Given the description of an element on the screen output the (x, y) to click on. 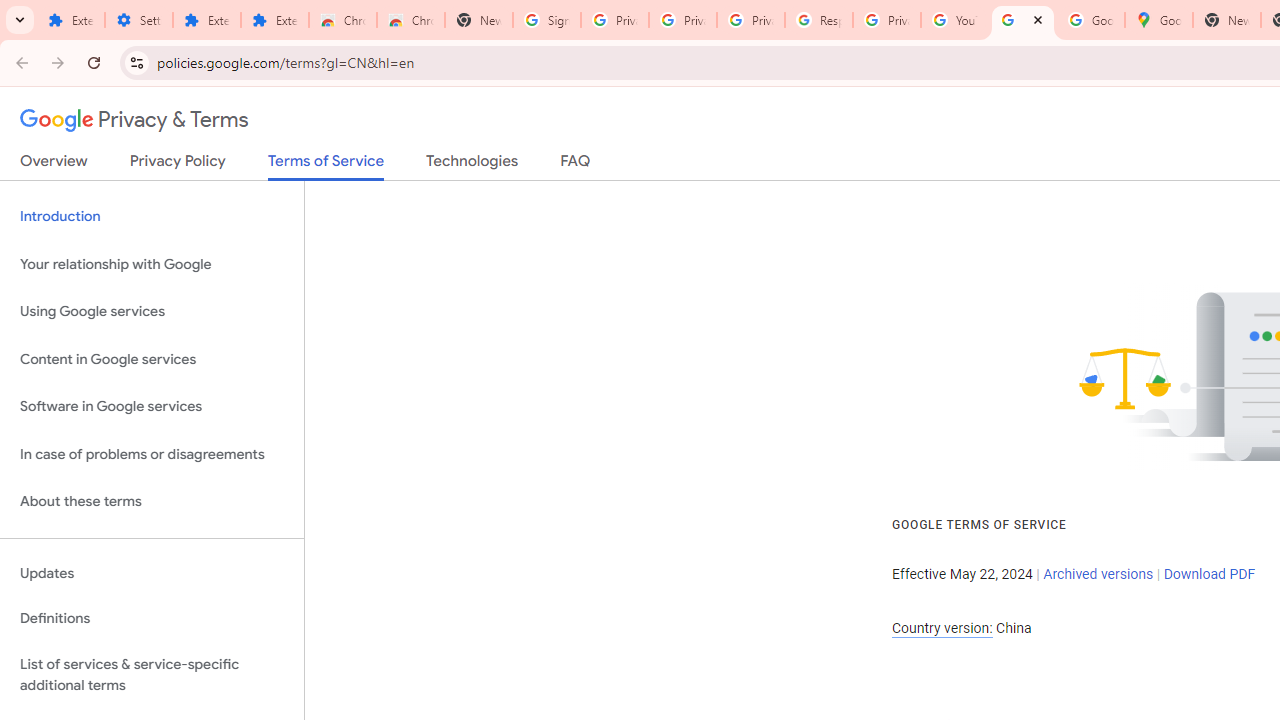
Software in Google services (152, 407)
